Given the description of an element on the screen output the (x, y) to click on. 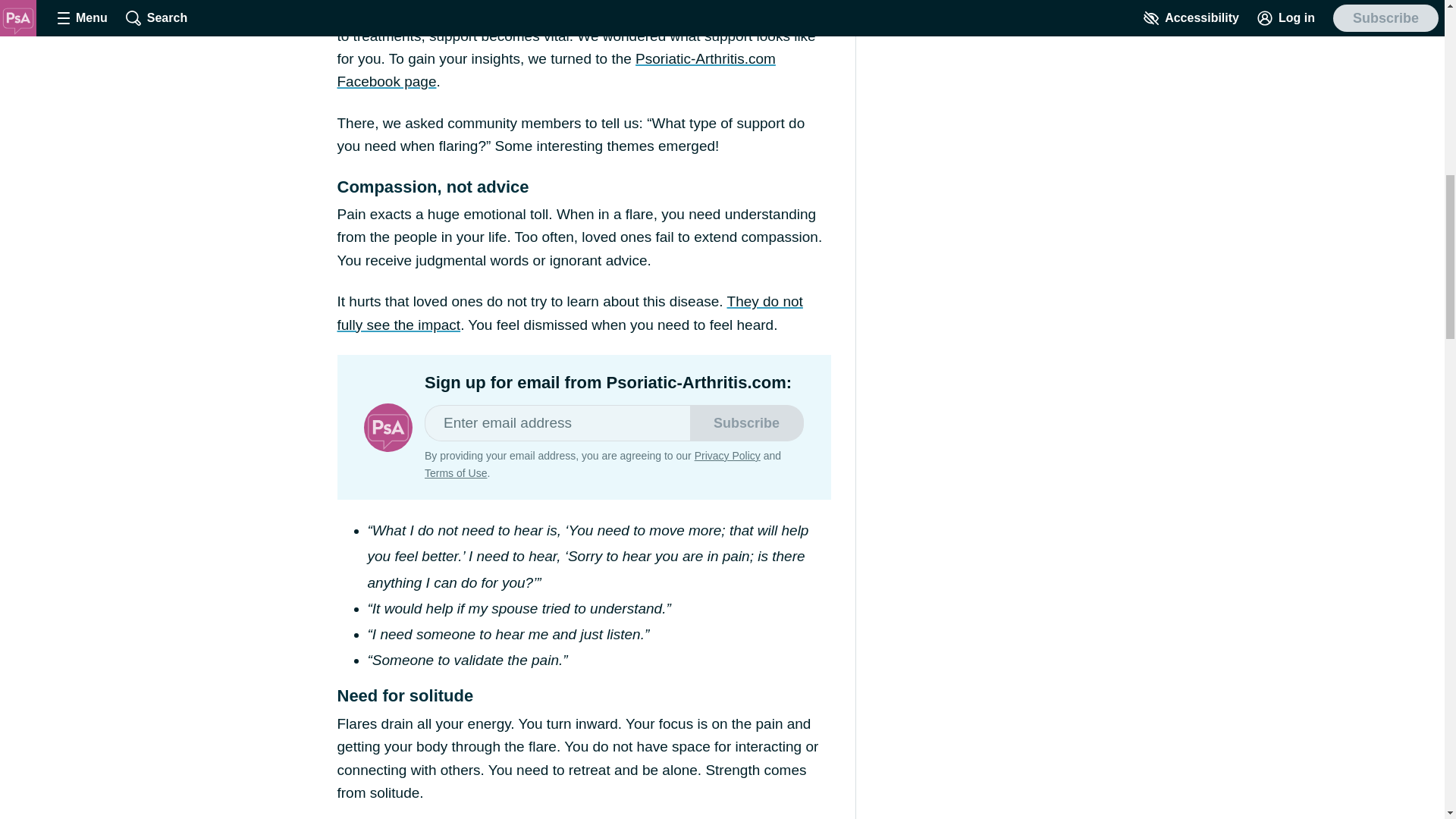
They do not fully see the impact (569, 312)
Terms of Use (455, 472)
Psoriatic-Arthritis.com Facebook page (555, 69)
Privacy Policy (727, 455)
Subscribe (746, 422)
